Given the description of an element on the screen output the (x, y) to click on. 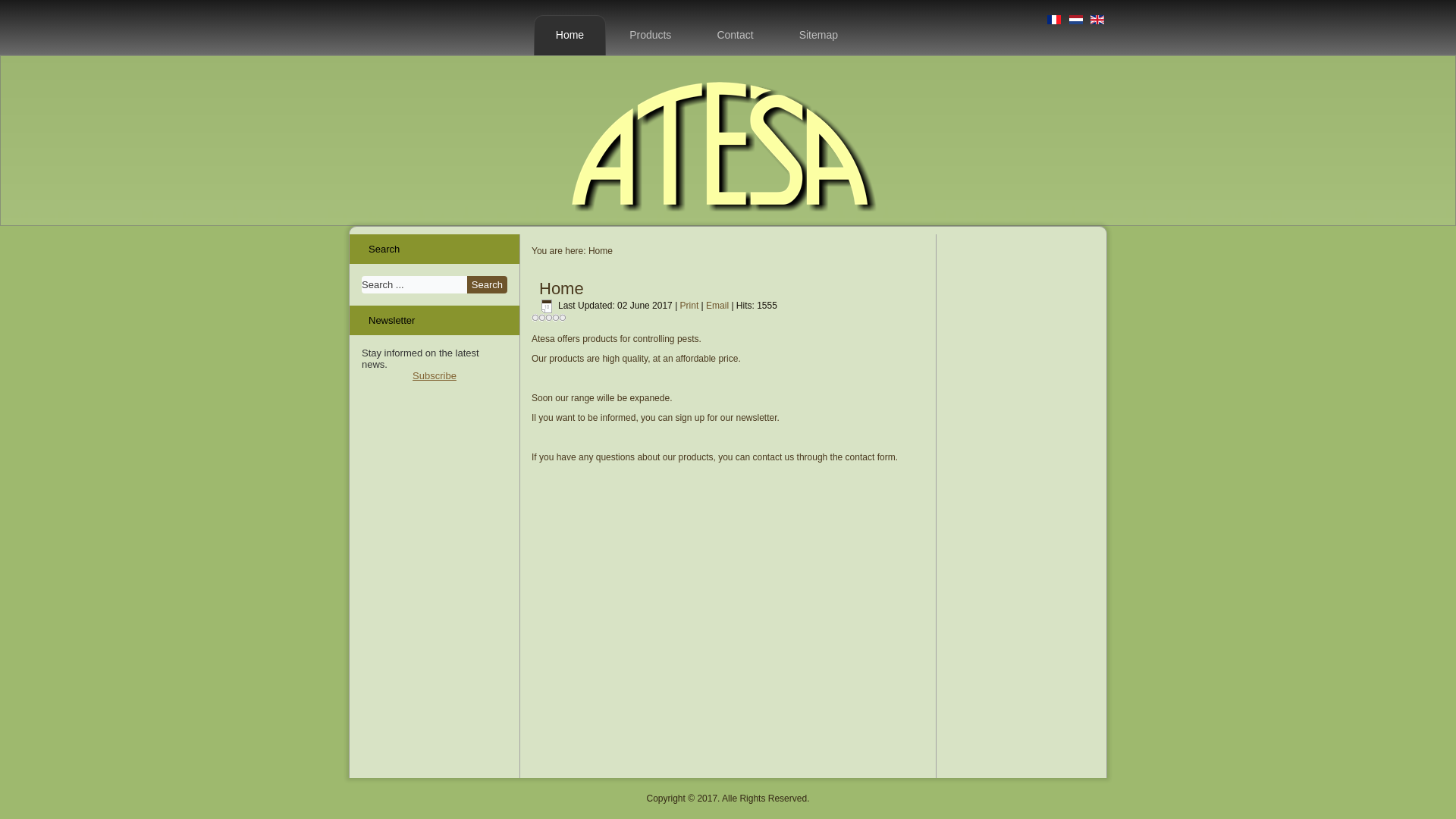
Products Element type: text (650, 34)
English (UK) Element type: hover (1097, 19)
Sitemap Element type: text (818, 34)
Contact Element type: text (734, 34)
Search Element type: text (487, 284)
Nederlands (NL) Element type: hover (1075, 19)
Email Element type: text (718, 305)
Print Element type: text (690, 305)
Subscribe Element type: text (434, 375)
Home Element type: text (569, 35)
